Given the description of an element on the screen output the (x, y) to click on. 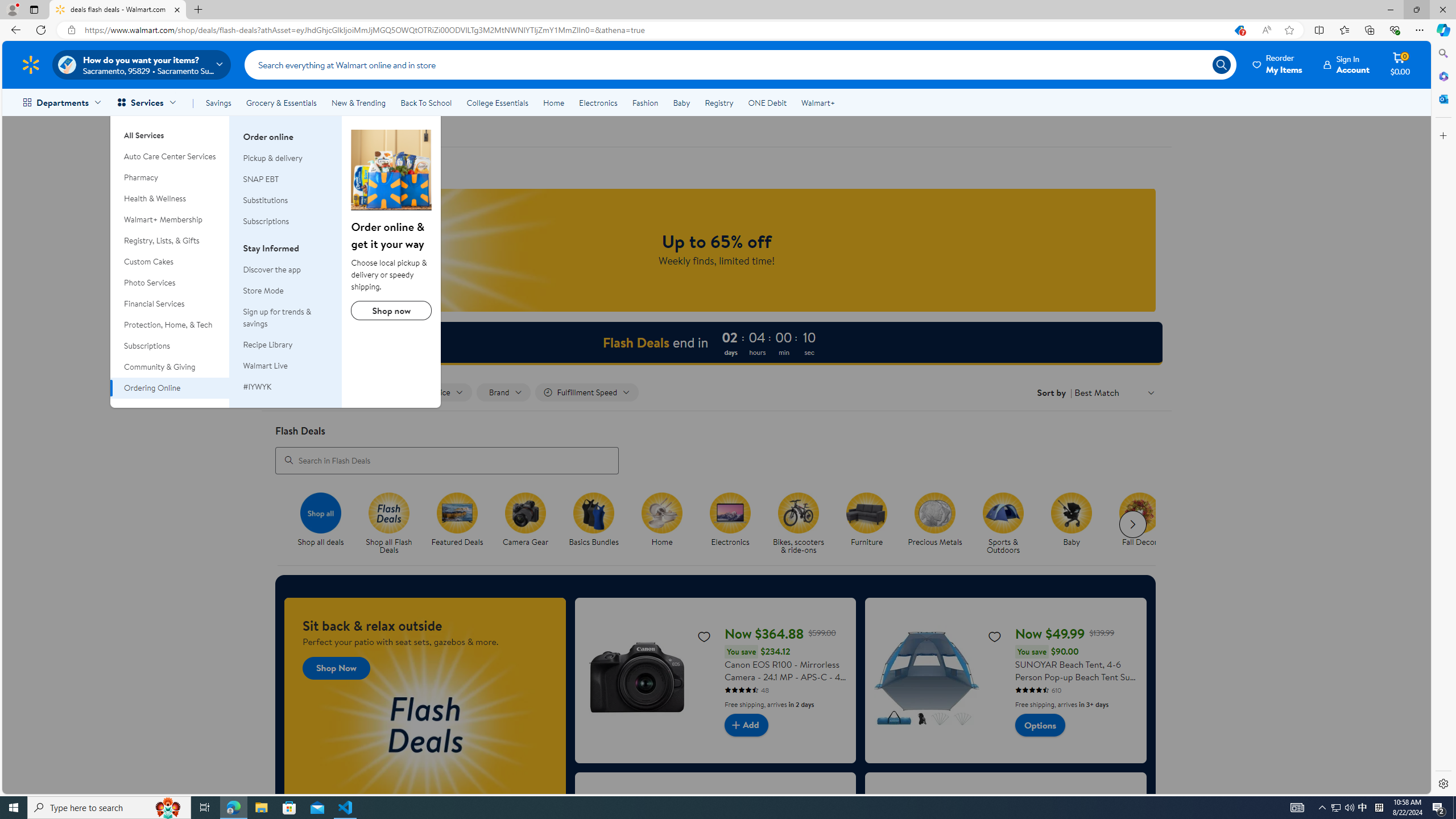
Ordering Online (170, 387)
Up to 65% off Weekly finds, limited time! (717, 249)
All filters none applied, activate to change (307, 392)
Substitutions (286, 200)
Baby (681, 102)
Walmart Live (286, 365)
Ordering Online (391, 169)
Baby (1075, 524)
